Given the description of an element on the screen output the (x, y) to click on. 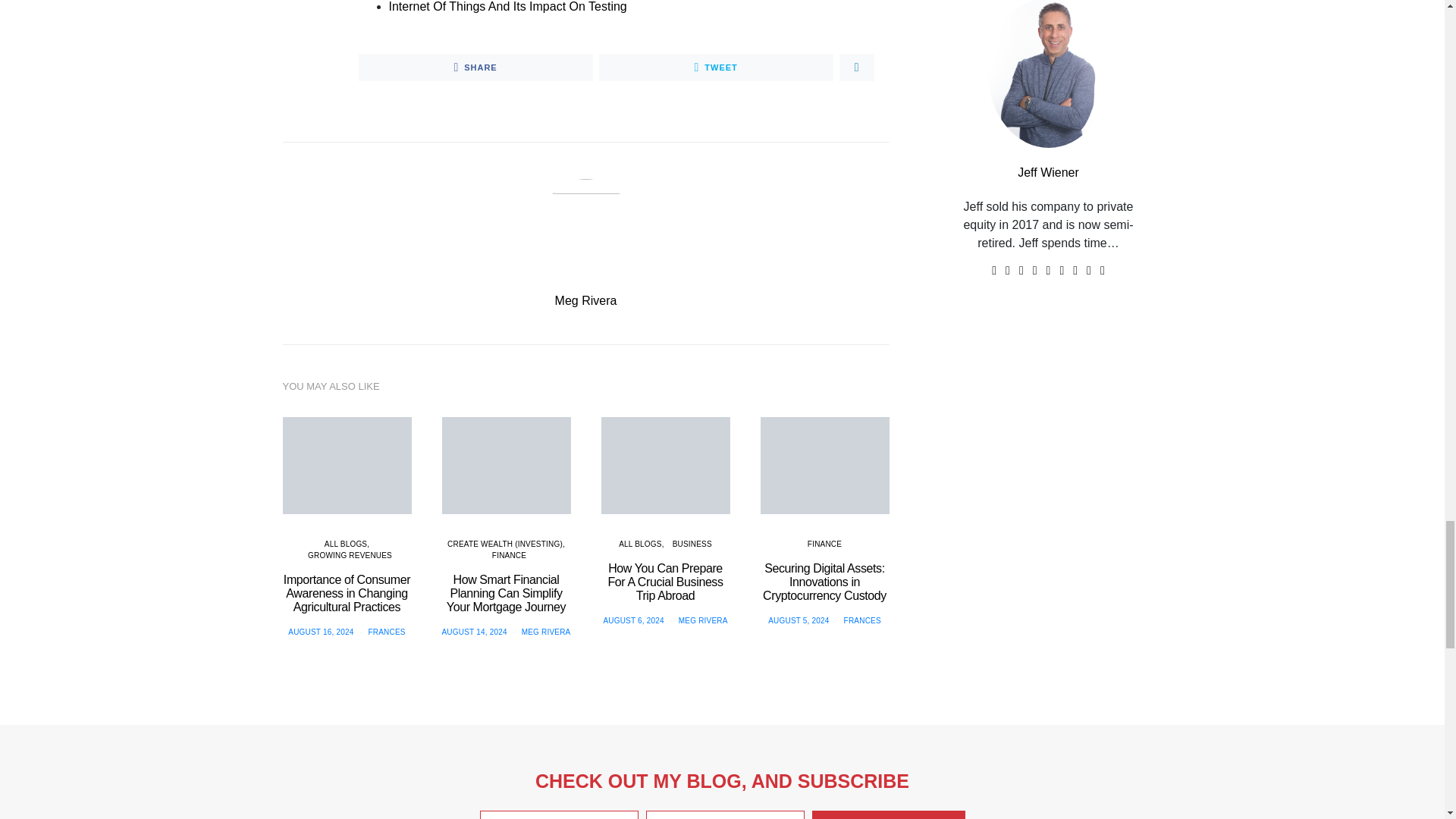
SUBSCRIBE TO BLOG (887, 814)
View all posts by Frances (387, 632)
View all posts by Meg Rivera (545, 632)
View all posts by Meg Rivera (703, 620)
View all posts by Frances (862, 620)
